Given the description of an element on the screen output the (x, y) to click on. 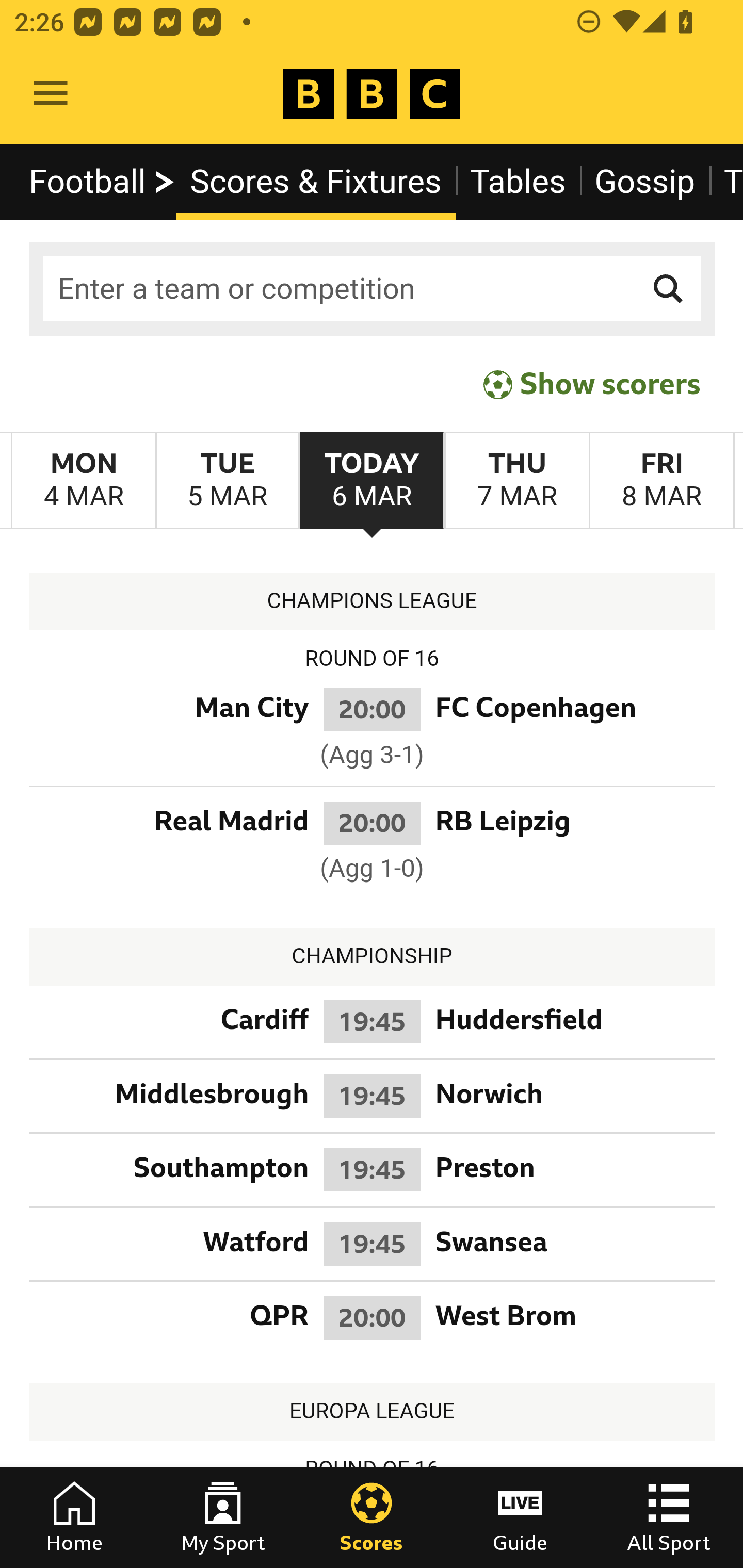
Open Menu (50, 93)
Football  (102, 181)
Scores & Fixtures (315, 181)
Tables (517, 181)
Gossip (645, 181)
Search (669, 289)
Show scorers (591, 383)
MondayMarch 4th Monday March 4th (83, 480)
TuesdayMarch 5th Tuesday March 5th (227, 480)
ThursdayMarch 7th Thursday March 7th (516, 480)
FridayMarch 8th Friday March 8th (661, 480)
Home (74, 1517)
My Sport (222, 1517)
Guide (519, 1517)
All Sport (668, 1517)
